Given the description of an element on the screen output the (x, y) to click on. 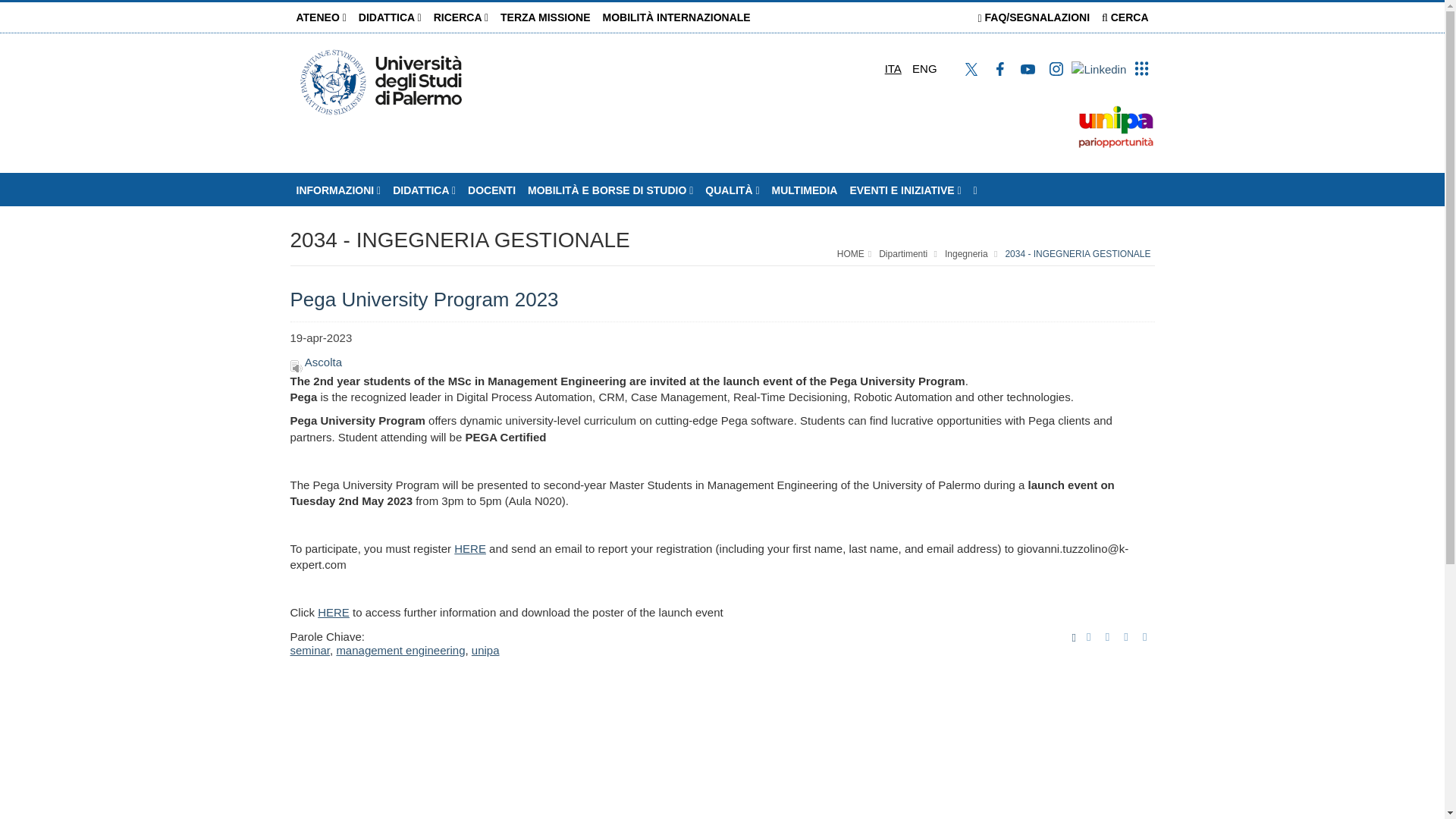
DIDATTICA  (390, 17)
RICERCA  (461, 17)
Ateneo (320, 17)
Didattica (390, 17)
ATENEO  (320, 17)
